Given the description of an element on the screen output the (x, y) to click on. 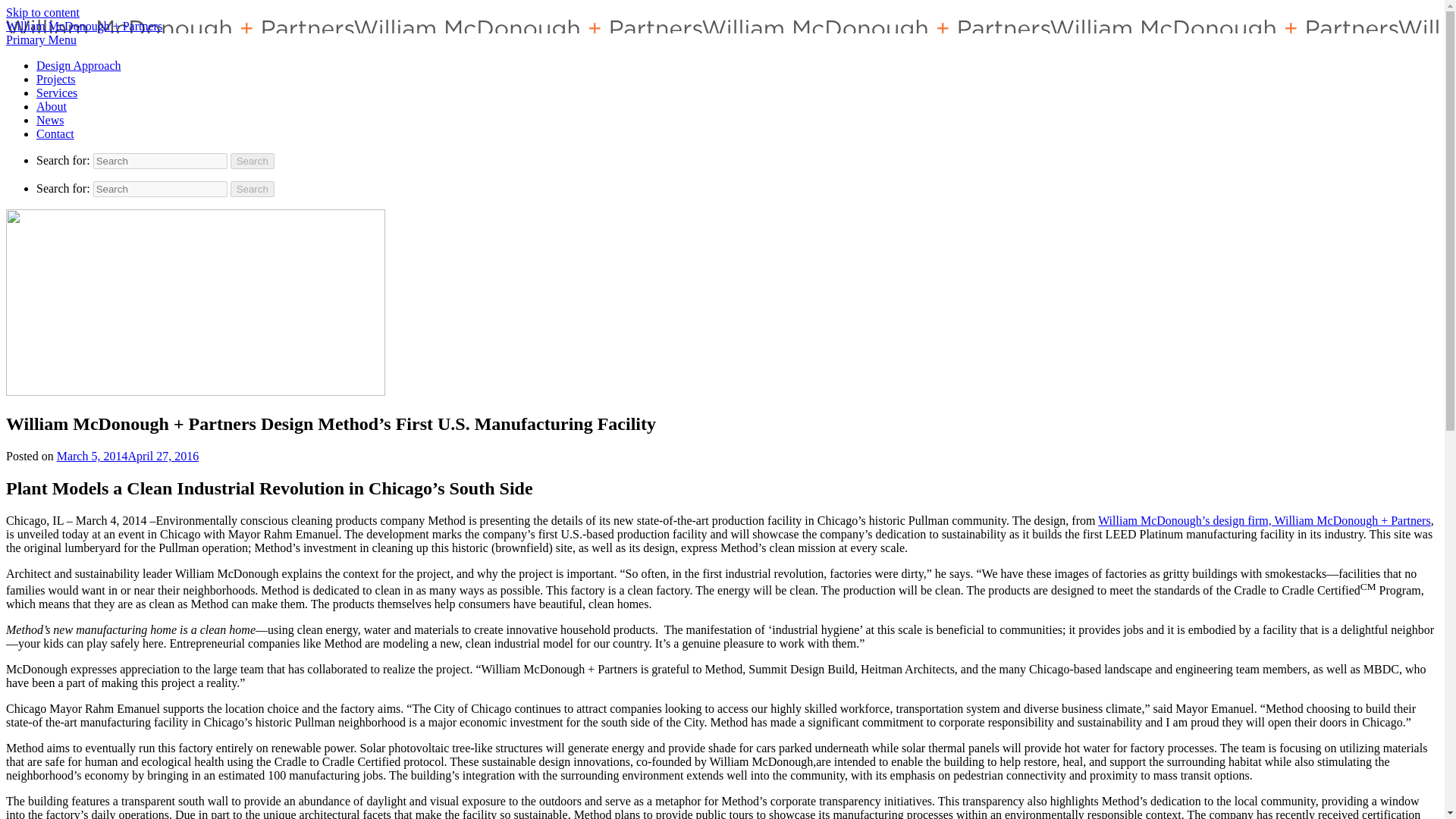
News (50, 119)
Contact (55, 133)
Primary Menu (41, 39)
March 5, 2014April 27, 2016 (127, 455)
About (51, 106)
Search (252, 160)
Services (56, 92)
Design Approach (78, 65)
Search (252, 188)
Projects (55, 78)
